Given the description of an element on the screen output the (x, y) to click on. 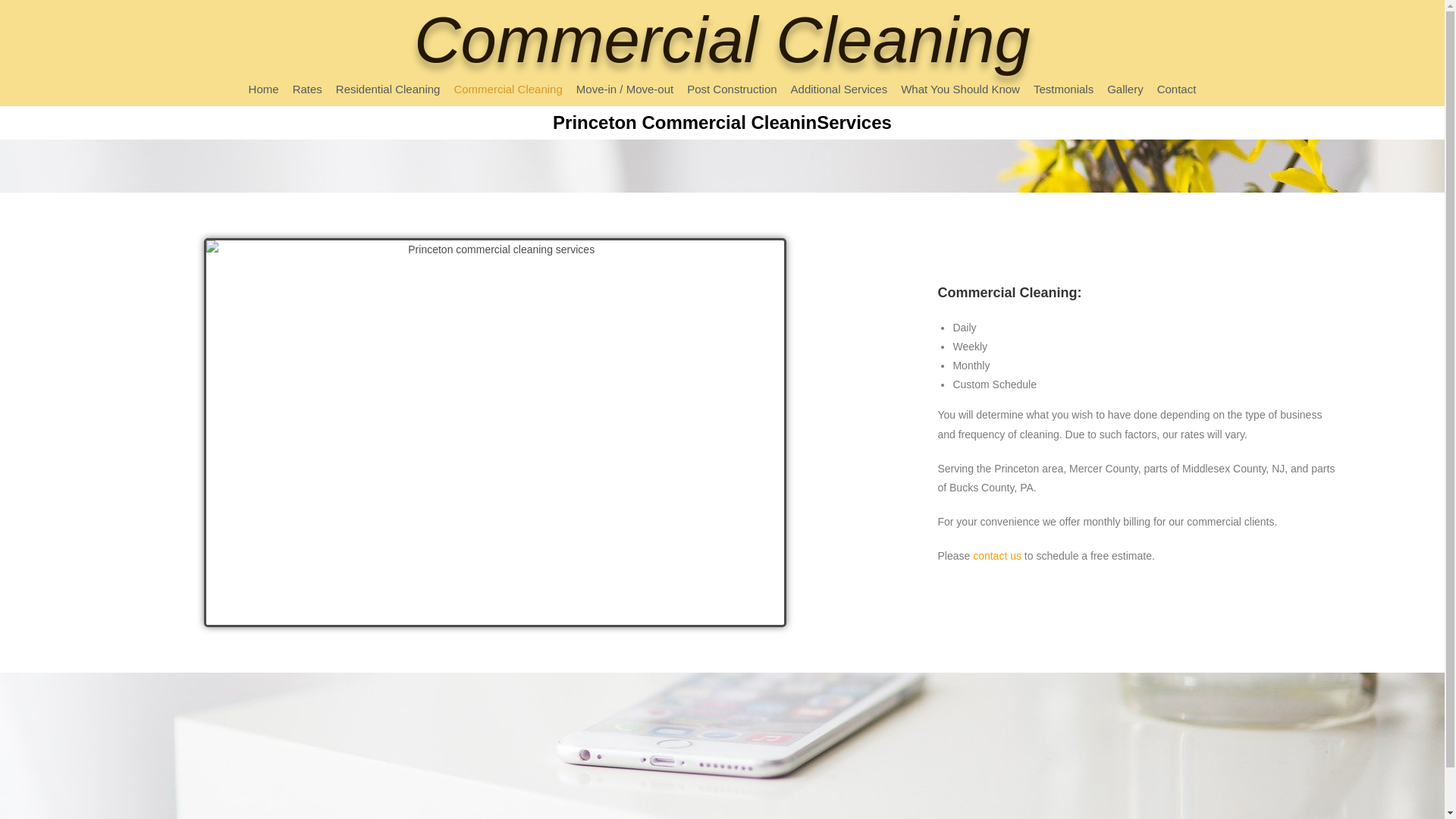
Contact (1177, 88)
Testmonials (1063, 88)
Commercial Cleaning (507, 88)
What You Should Know (959, 88)
Rates (307, 88)
Post Construction (731, 88)
Additional Services (839, 88)
Beas Home Services (1275, 724)
Residential Cleaning (387, 88)
Gallery (1125, 88)
